Given the description of an element on the screen output the (x, y) to click on. 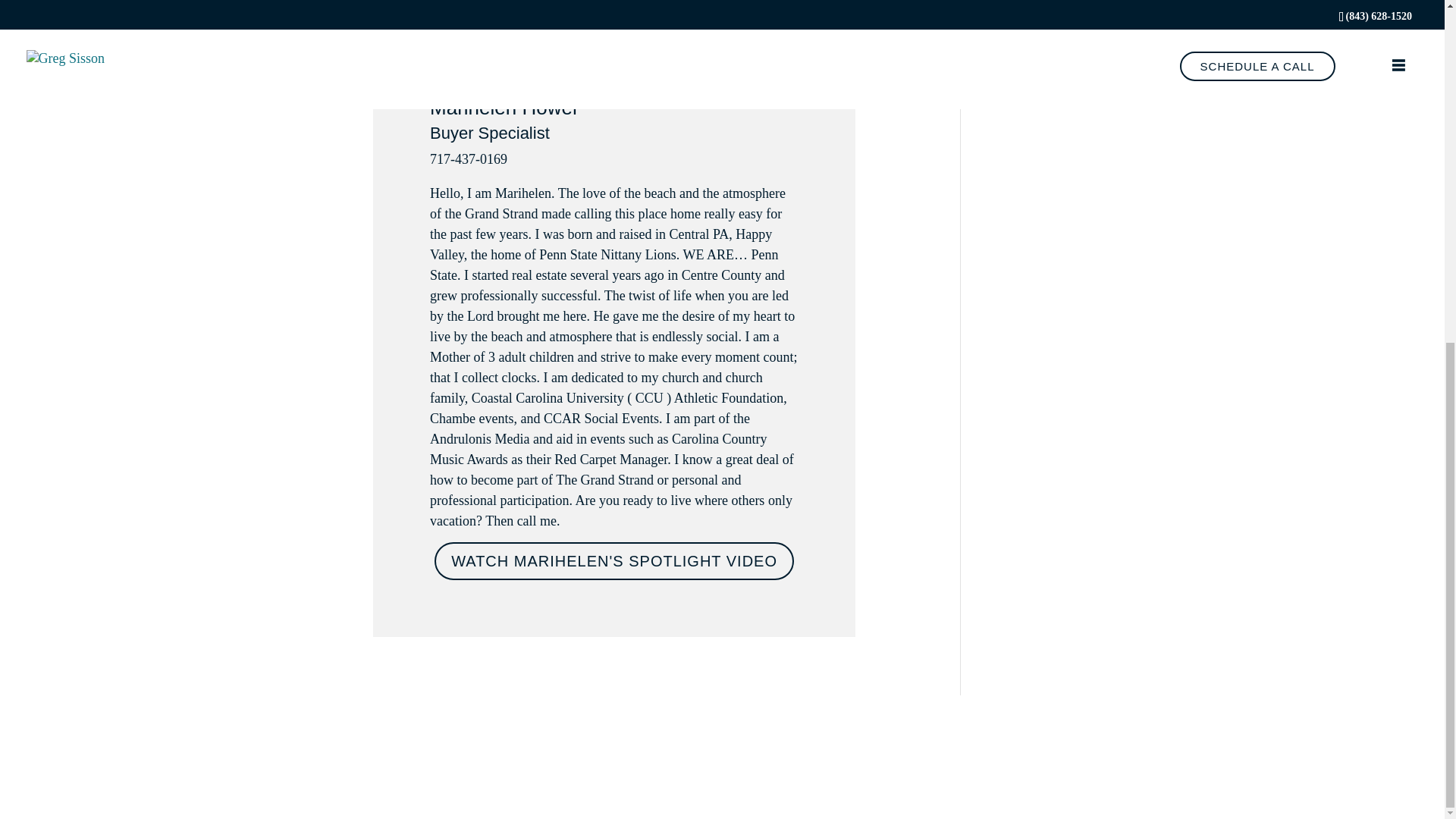
WATCH MARIHELEN'S SPOTLIGHT VIDEO (613, 560)
